Given the description of an element on the screen output the (x, y) to click on. 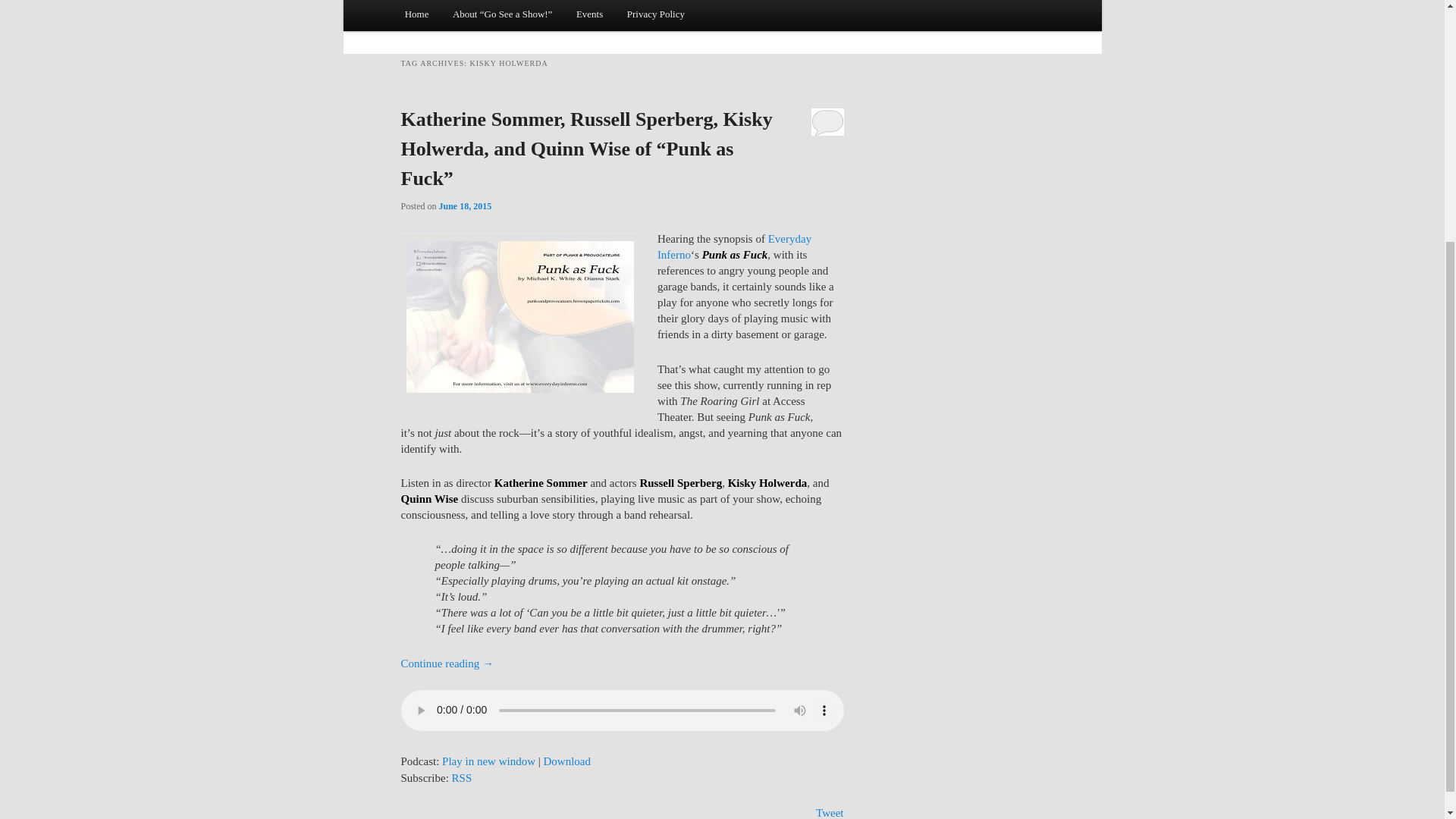
Download (567, 761)
June 18, 2015 (465, 205)
Events (589, 15)
Everyday Inferno (734, 246)
Subscribe via RSS (461, 777)
4:33 pm (465, 205)
Privacy Policy (655, 15)
RSS (461, 777)
Download (567, 761)
Play in new window (488, 761)
